Given the description of an element on the screen output the (x, y) to click on. 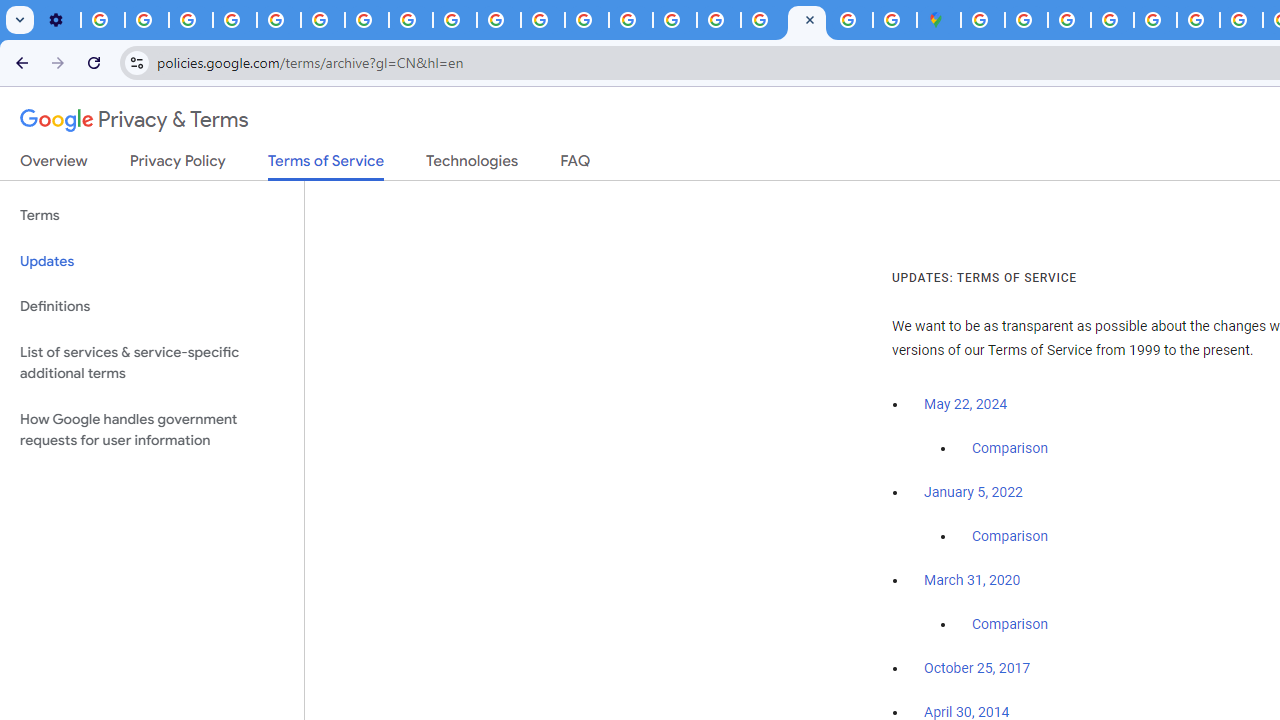
March 31, 2020 (972, 580)
January 5, 2022 (973, 492)
Settings - Customize profile (58, 20)
Terms and Conditions (1155, 20)
List of services & service-specific additional terms (152, 362)
May 22, 2024 (966, 404)
Sign in - Google Accounts (762, 20)
Sign in - Google Accounts (982, 20)
Google Account Help (234, 20)
https://scholar.google.com/ (542, 20)
